Given the description of an element on the screen output the (x, y) to click on. 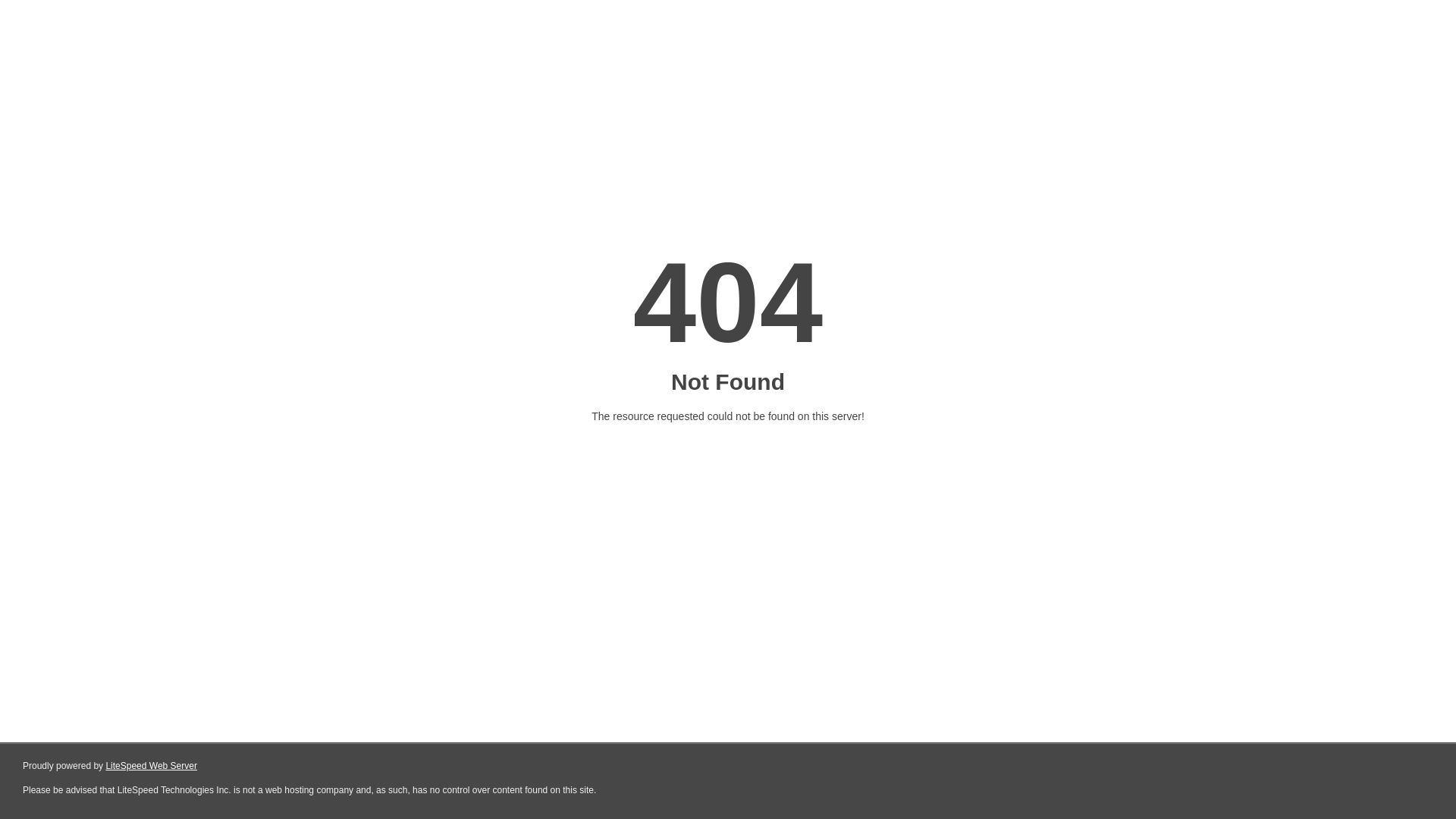
LiteSpeed Web Server Element type: text (151, 765)
